Given the description of an element on the screen output the (x, y) to click on. 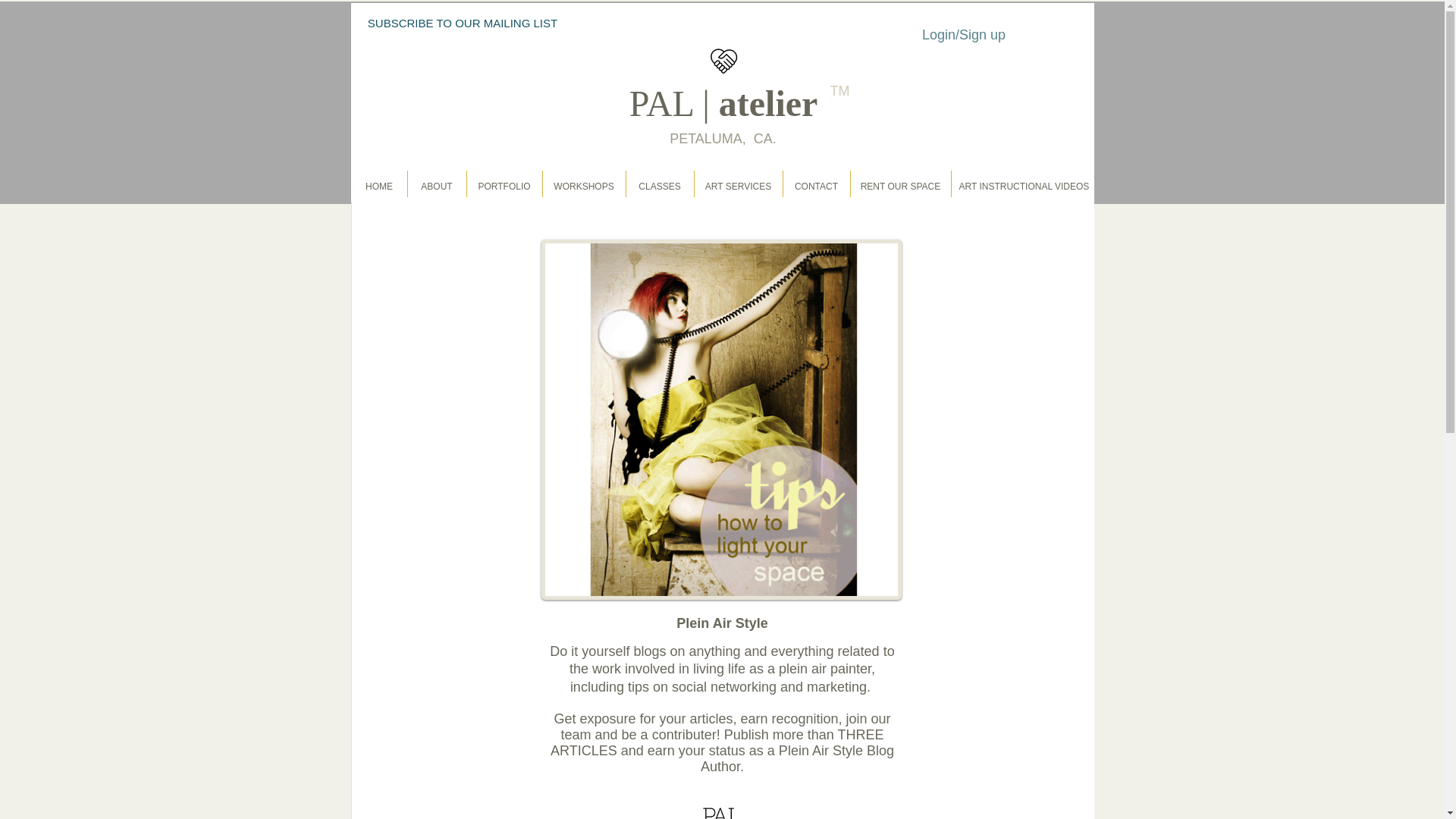
PAL atelier discounts offered (721, 812)
CONTACT (816, 186)
CLASSES (658, 186)
ART SERVICES (737, 186)
RENT OUR SPACE (899, 186)
PORTFOLIO (503, 186)
HOME (379, 186)
SUBSCRIBE TO OUR MAILING LIST (462, 22)
ABOUT (435, 186)
ART INSTRUCTIONAL VIDEOS (1022, 186)
WORKSHOPS (582, 186)
